Given the description of an element on the screen output the (x, y) to click on. 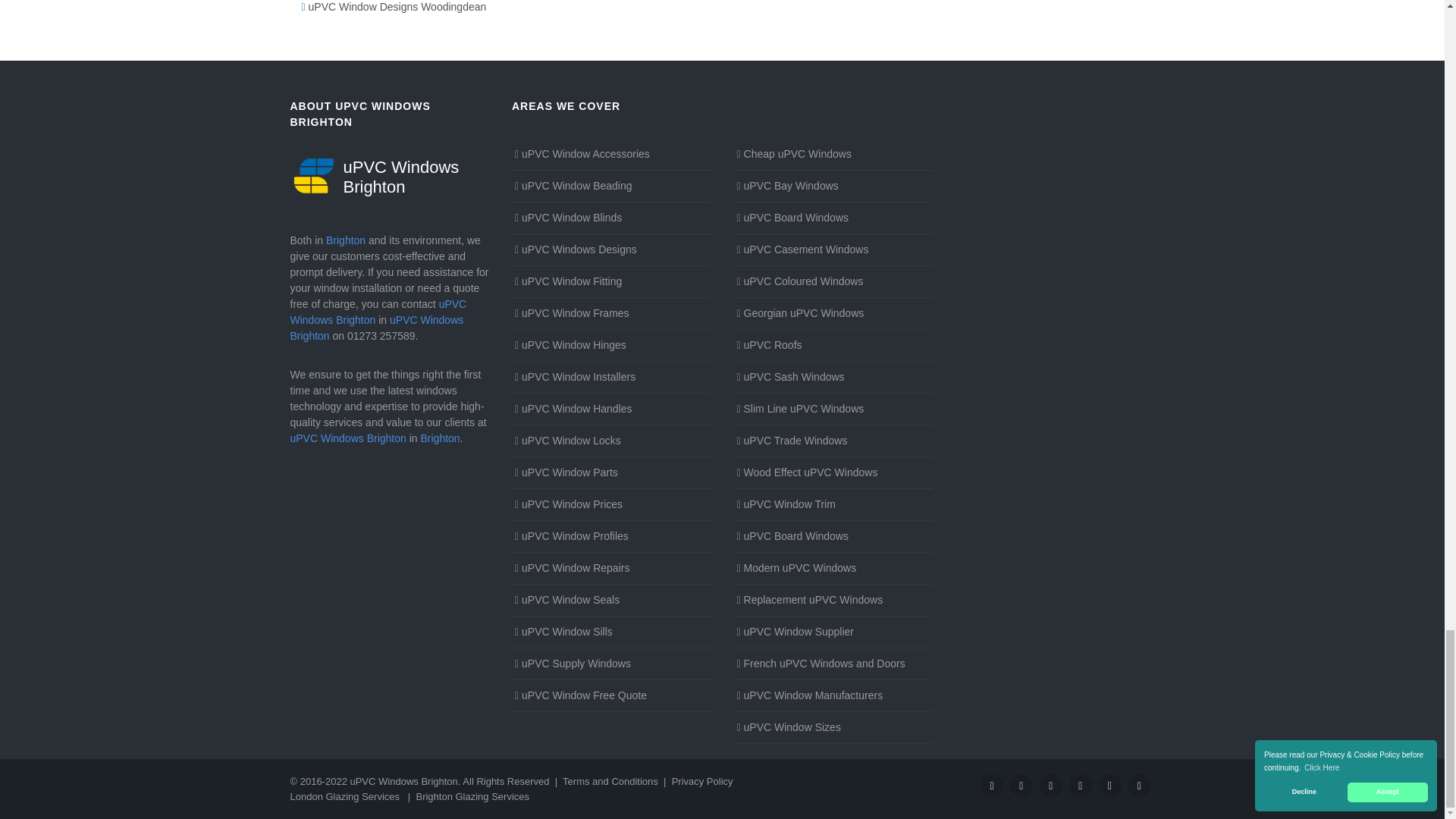
uPVC Windows Brighton (389, 176)
